Given the description of an element on the screen output the (x, y) to click on. 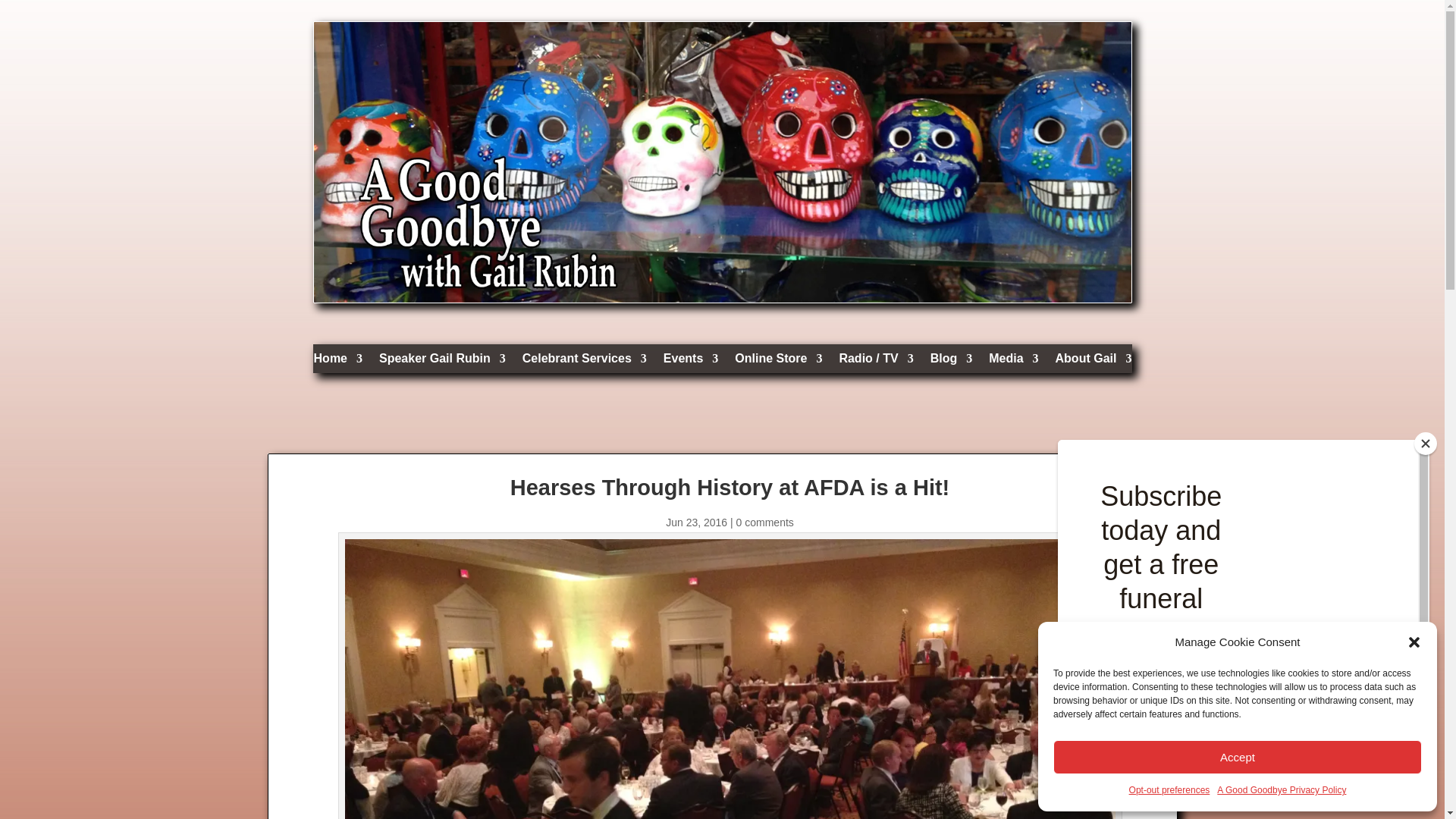
Online Store (778, 361)
Accept (1237, 756)
Opt-out preferences (1169, 791)
Funeral Services (584, 361)
Celebrant Services (584, 361)
A Good Goodbye Privacy Policy (1281, 791)
Speaker Gail Rubin (441, 361)
Home (338, 361)
Events (690, 361)
